Given the description of an element on the screen output the (x, y) to click on. 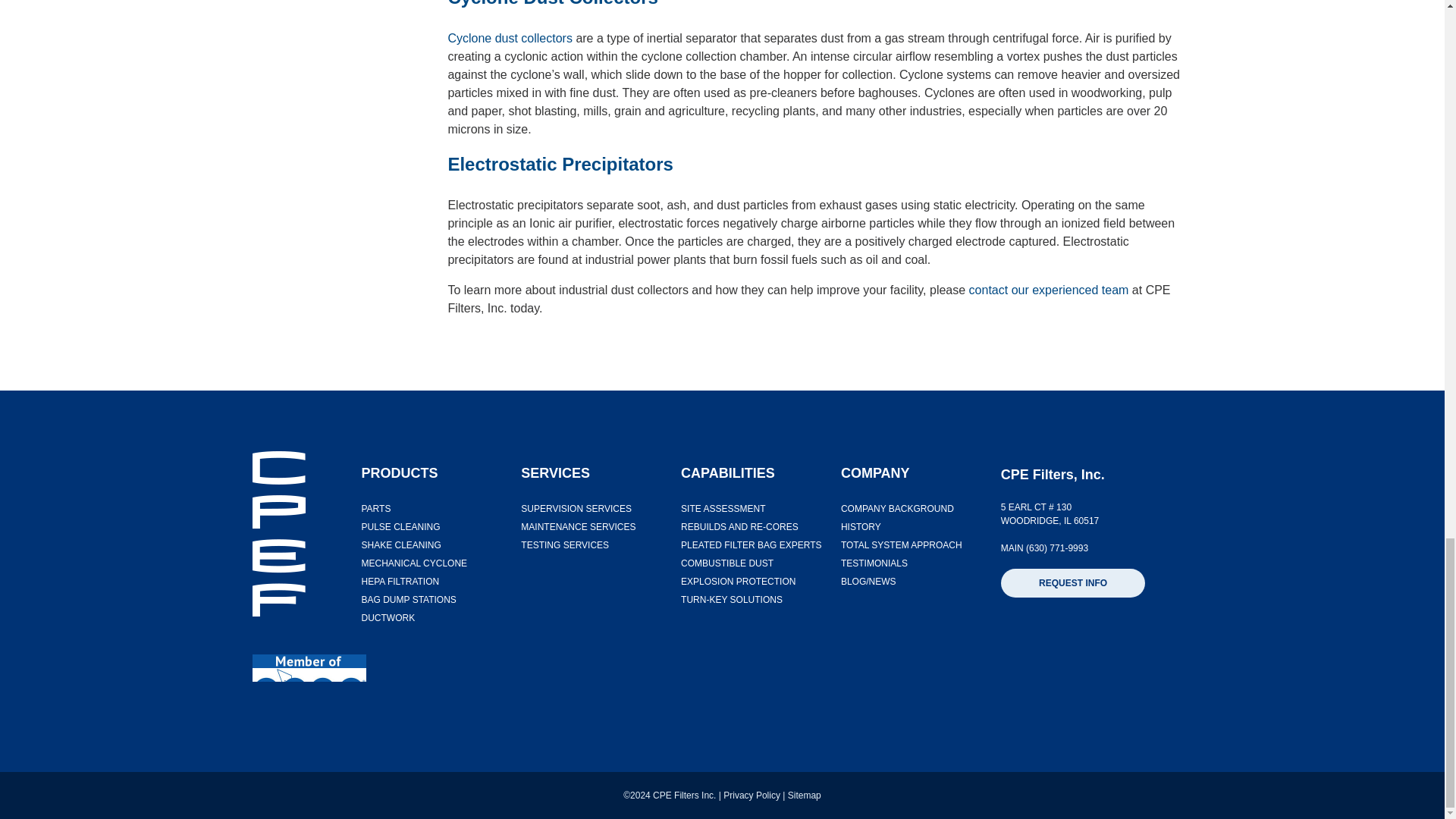
Privacy Policy (751, 795)
PEMA Logo (308, 667)
Sitemap (804, 795)
